Given the description of an element on the screen output the (x, y) to click on. 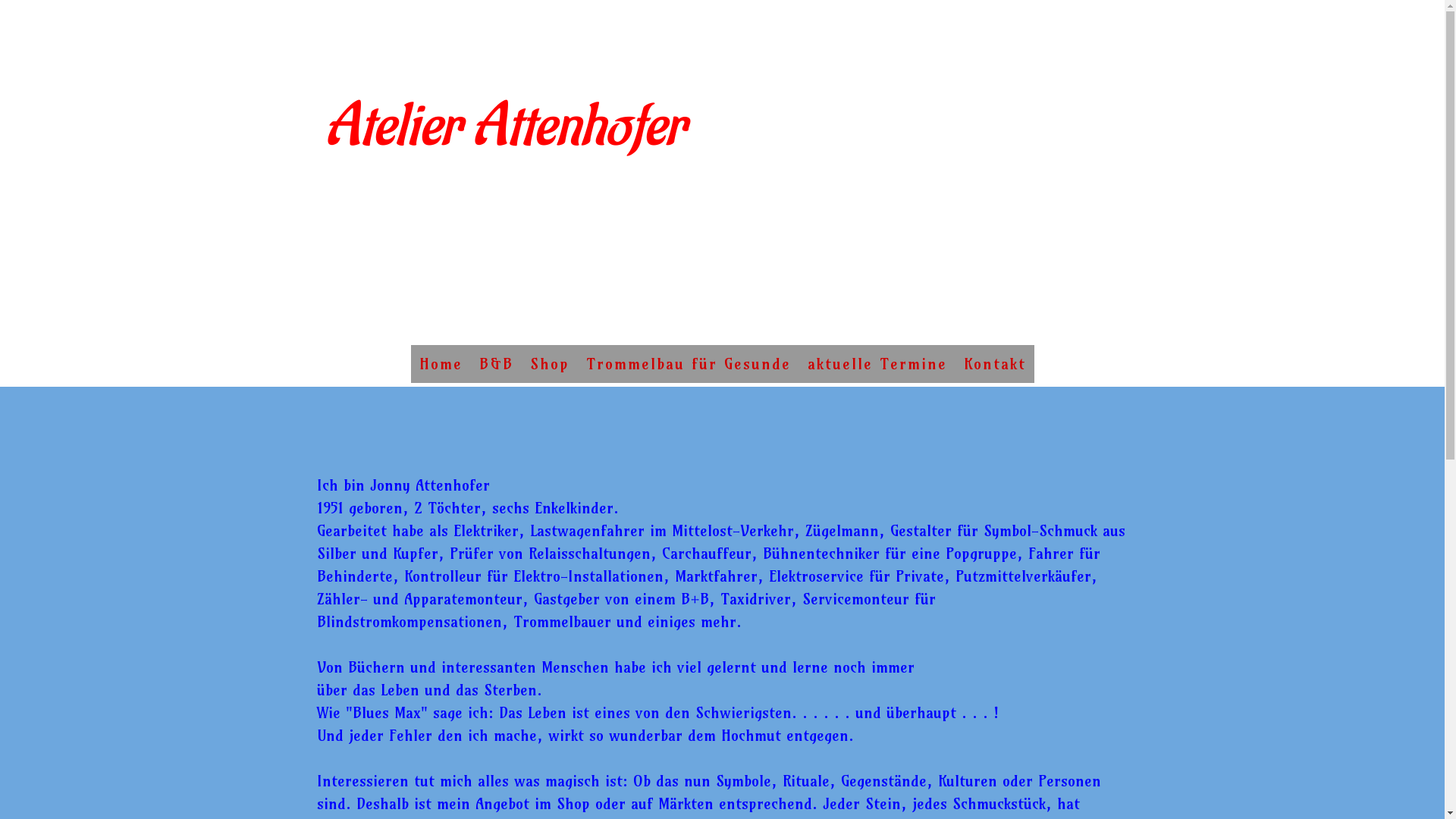
Shop Element type: text (549, 363)
Home Element type: text (440, 363)
B&B Element type: text (495, 363)
Kontakt Element type: text (994, 363)
aktuelle Termine Element type: text (877, 363)
Atelier Attenhofer Element type: text (504, 139)
